Given the description of an element on the screen output the (x, y) to click on. 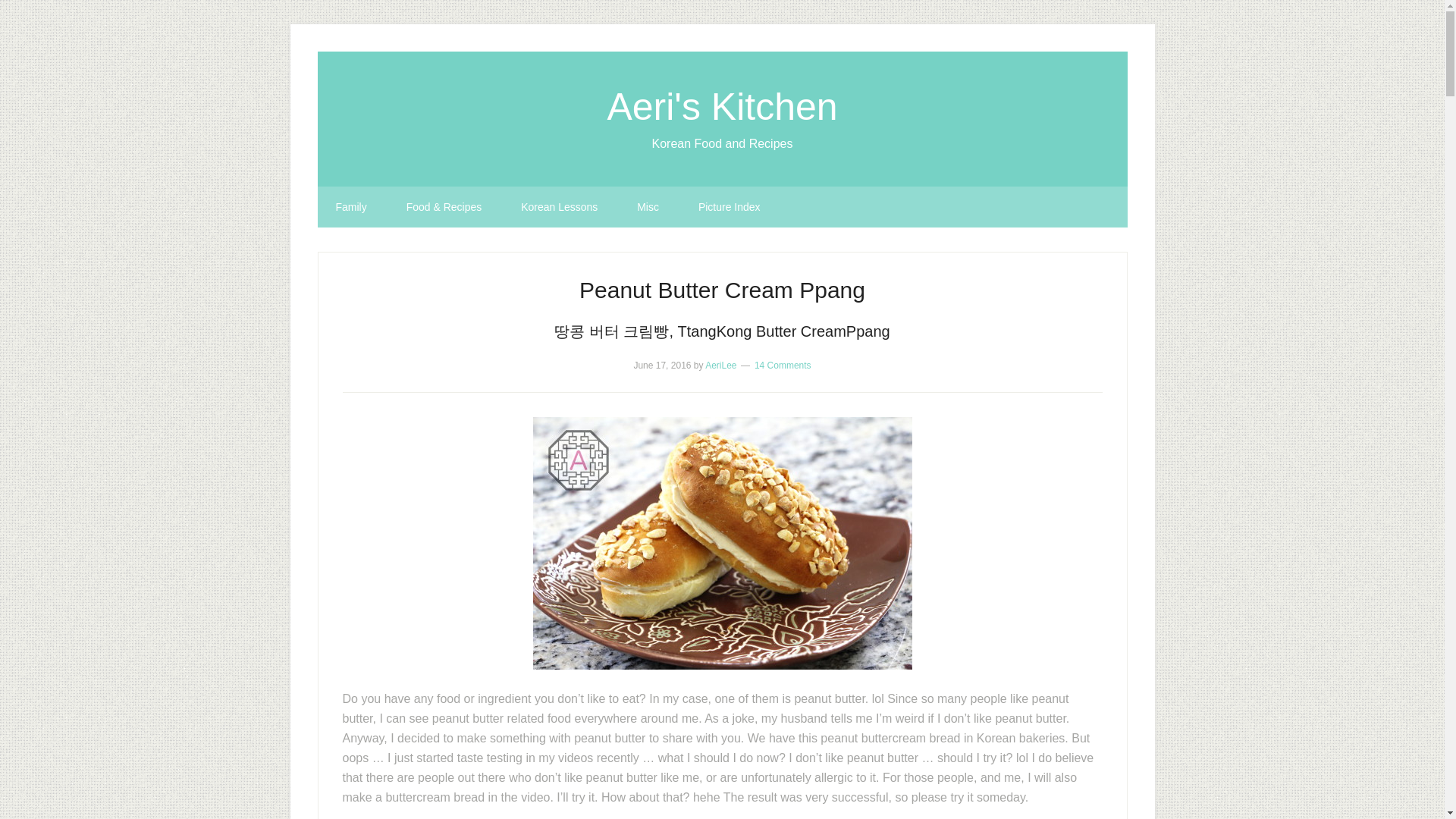
Aeri's Kitchen (722, 106)
Picture Index (728, 206)
AeriLee (720, 365)
14 Comments (782, 365)
Family (350, 206)
Peanut Butter Cream Ppang (721, 289)
Korean Lessons (558, 206)
Misc (647, 206)
